Given the description of an element on the screen output the (x, y) to click on. 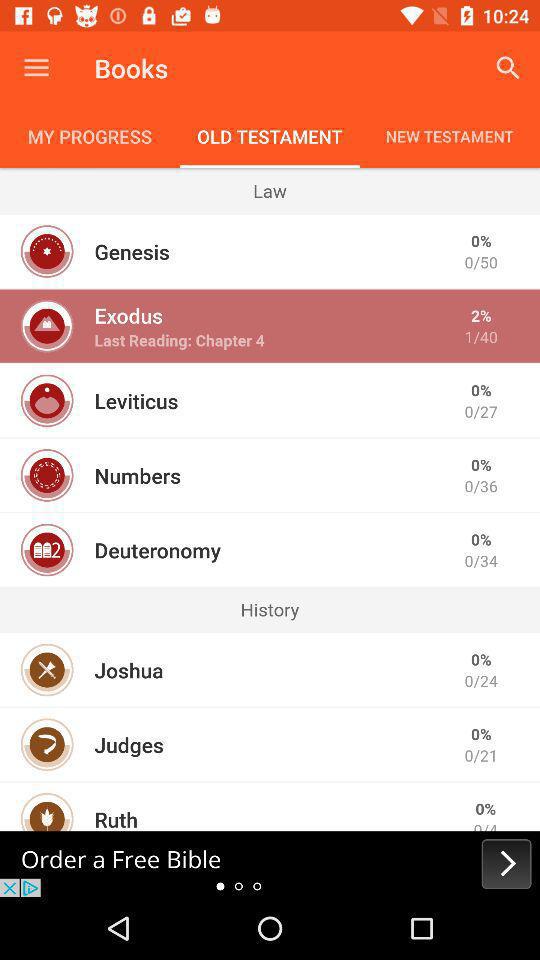
view add (270, 864)
